Given the description of an element on the screen output the (x, y) to click on. 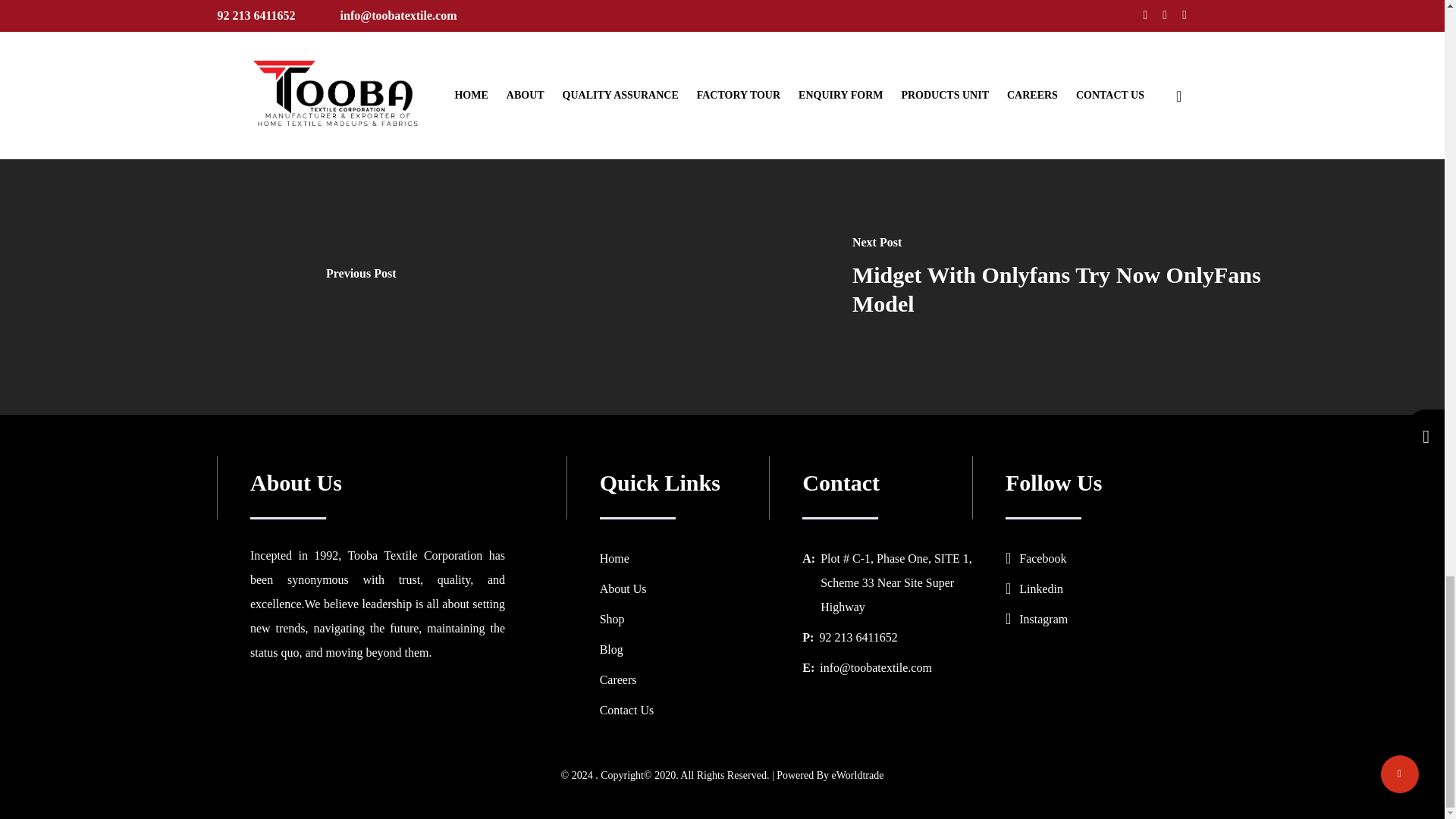
Home (613, 558)
Contact Us (626, 709)
About Us (622, 588)
No Comments (395, 3)
Shop (611, 618)
Careers (618, 679)
Blog (611, 649)
